Given the description of an element on the screen output the (x, y) to click on. 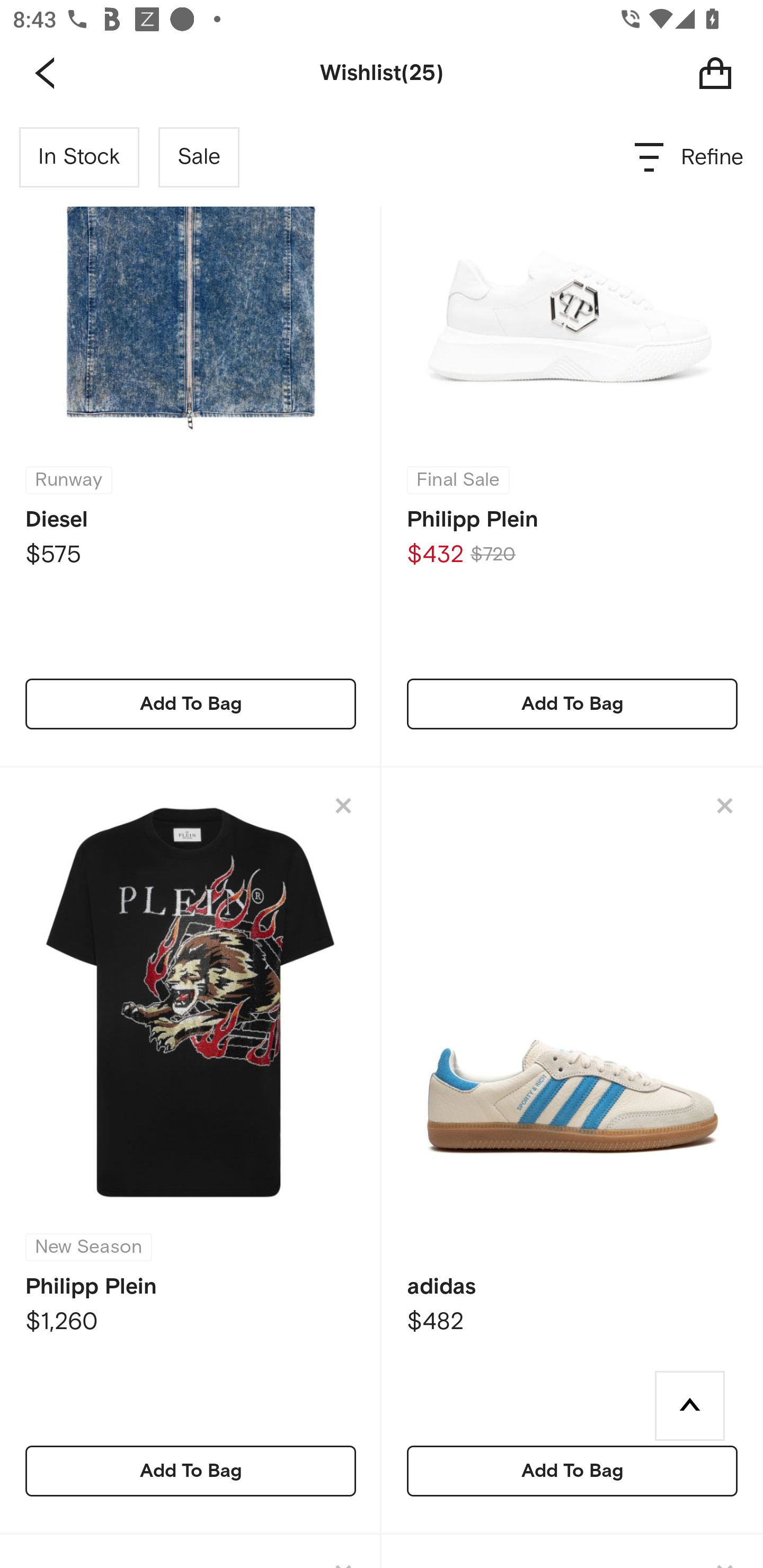
Runway Diesel $575 Add To Bag (190, 438)
Final Sale Philipp Plein $432 $720 Add To Bag (572, 438)
In Stock (79, 157)
Sale (198, 157)
Refine (690, 157)
Add To Bag (190, 703)
Add To Bag (571, 703)
New Season Philipp Plein $1,260 Add To Bag (190, 1151)
adidas $482 Add To Bag (572, 1151)
Add To Bag (190, 1470)
Add To Bag (571, 1470)
